Given the description of an element on the screen output the (x, y) to click on. 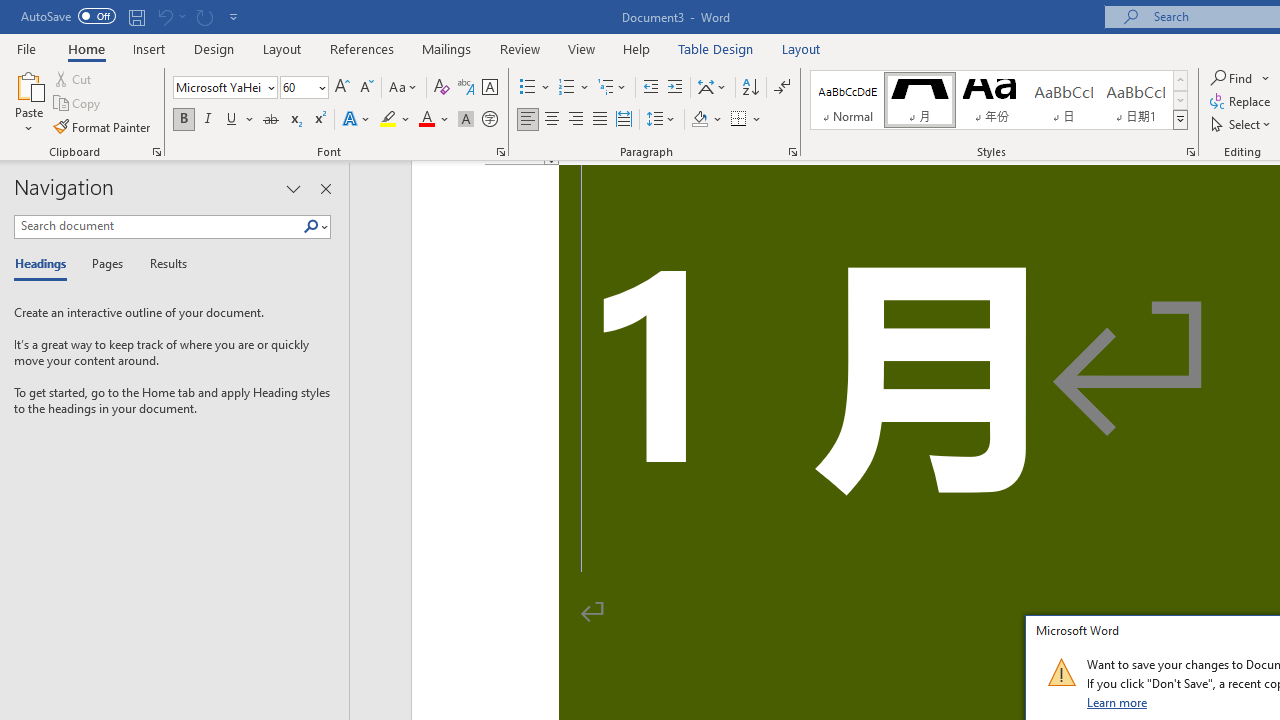
Shading (706, 119)
Can't Undo (170, 15)
Phonetic Guide... (465, 87)
Justify (599, 119)
Align Right (575, 119)
Bullets (527, 87)
Paragraph... (792, 151)
Font Size (304, 87)
Styles... (1190, 151)
Subscript (294, 119)
Character Border (489, 87)
Superscript (319, 119)
Clear Formatting (442, 87)
Text Highlight Color (395, 119)
